Given the description of an element on the screen output the (x, y) to click on. 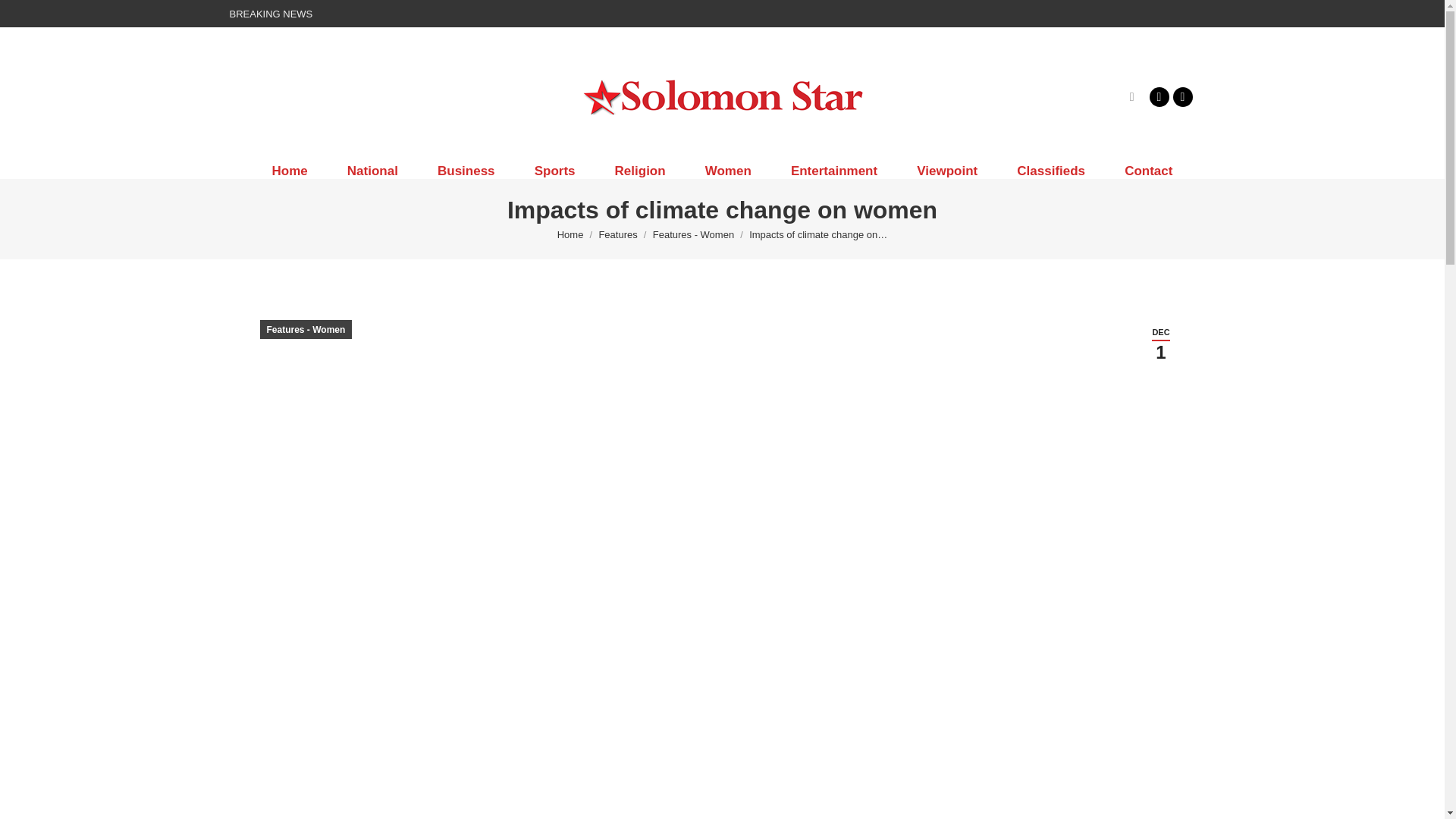
Features (617, 234)
X page opens in new window (1182, 96)
Viewpoint (946, 170)
Contact (1148, 170)
Features - Women (692, 234)
5:29 am (1161, 343)
Home (288, 170)
Sports (555, 170)
Go! (24, 17)
National (372, 170)
